Given the description of an element on the screen output the (x, y) to click on. 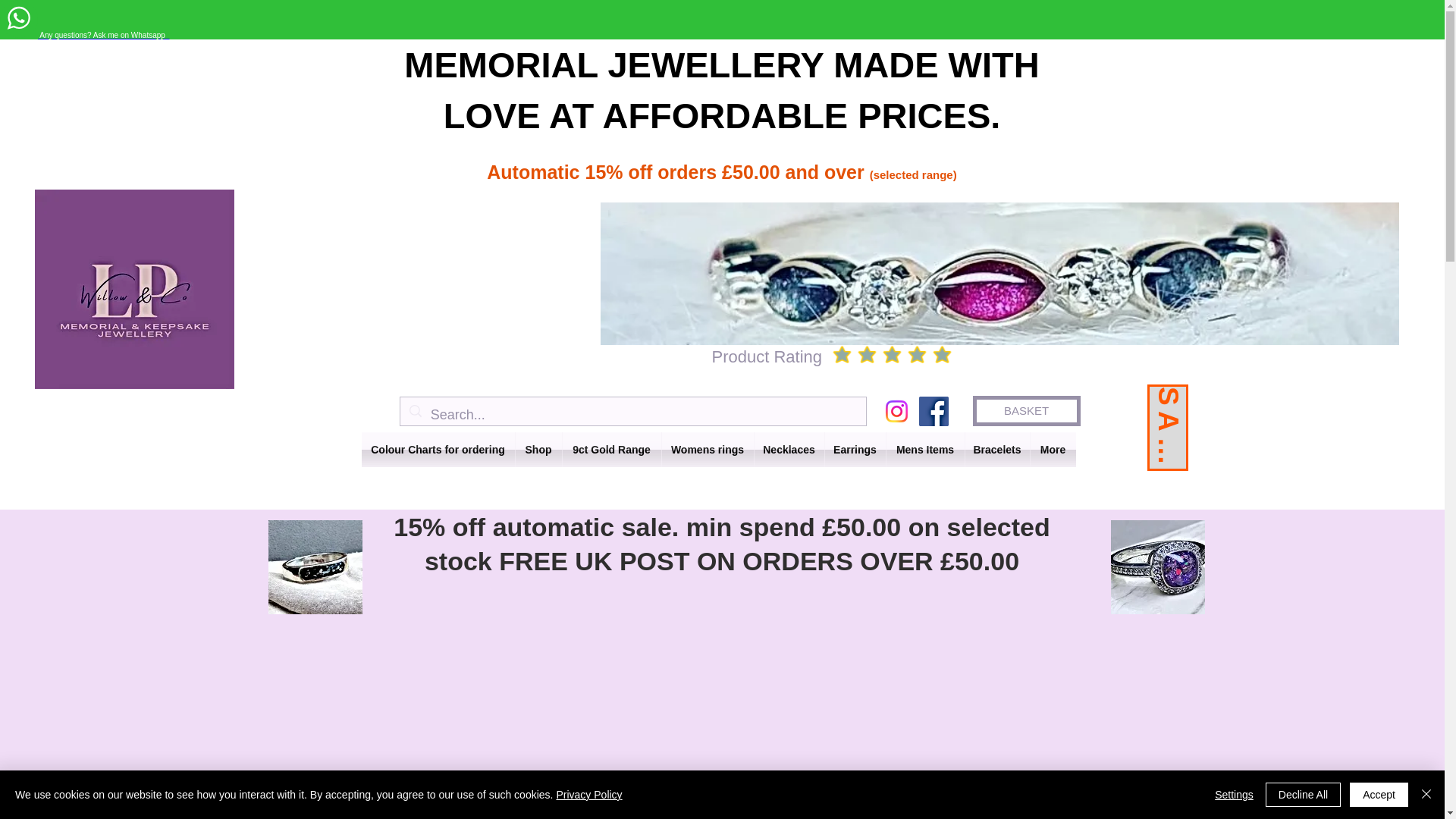
Bracelets (996, 449)
Colour Charts for ordering (437, 449)
Mens Items (924, 449)
Shop (538, 449)
Womens rings (706, 449)
Earrings (855, 449)
BASKET (1026, 410)
Necklaces (789, 449)
9ct Gold Range (611, 449)
